Given the description of an element on the screen output the (x, y) to click on. 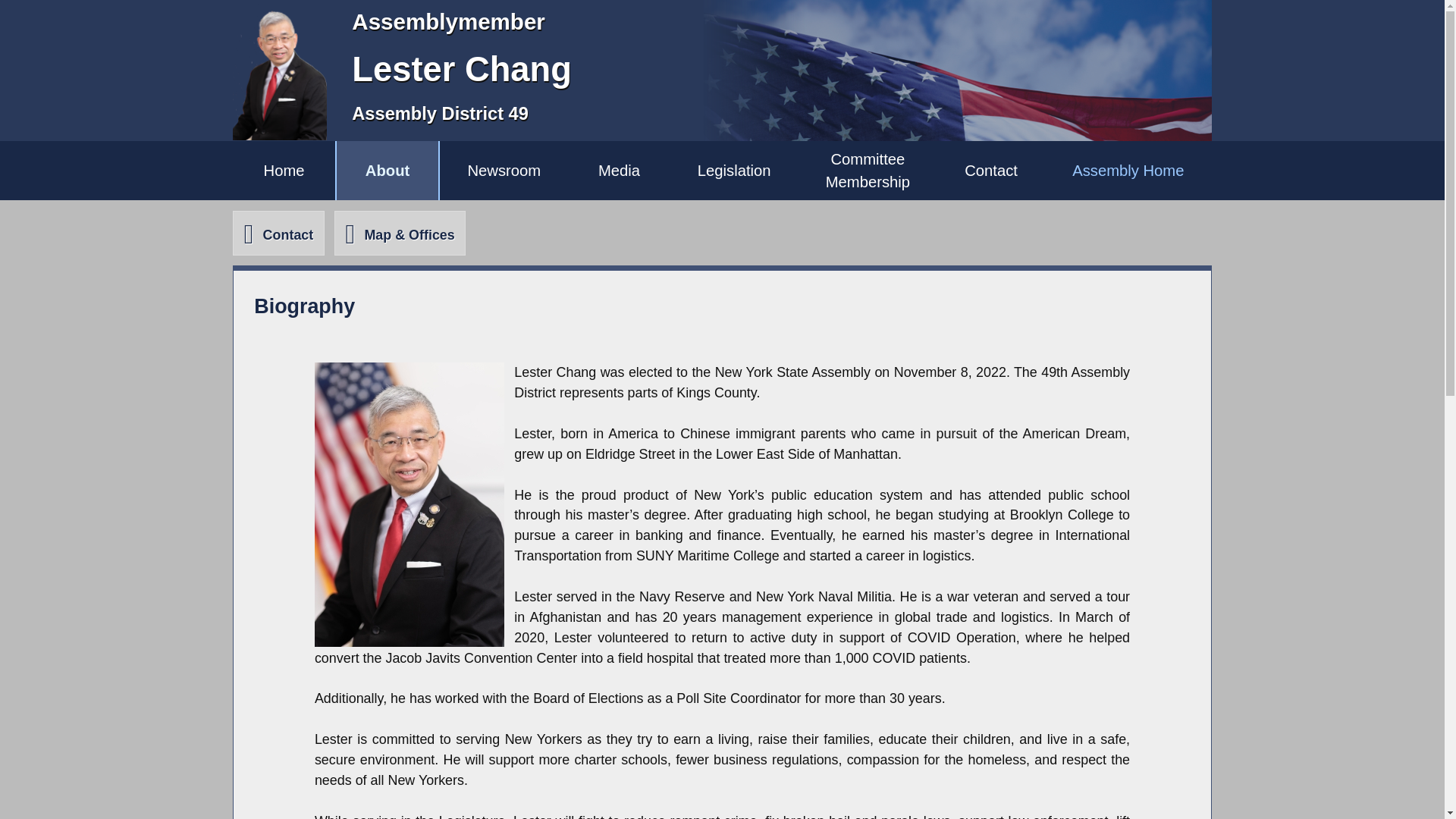
About (387, 169)
Legislation (733, 169)
Media (618, 169)
Contact (867, 169)
Home (991, 169)
Assembly Home (283, 169)
Contact (1128, 169)
Newsroom (277, 232)
